Given the description of an element on the screen output the (x, y) to click on. 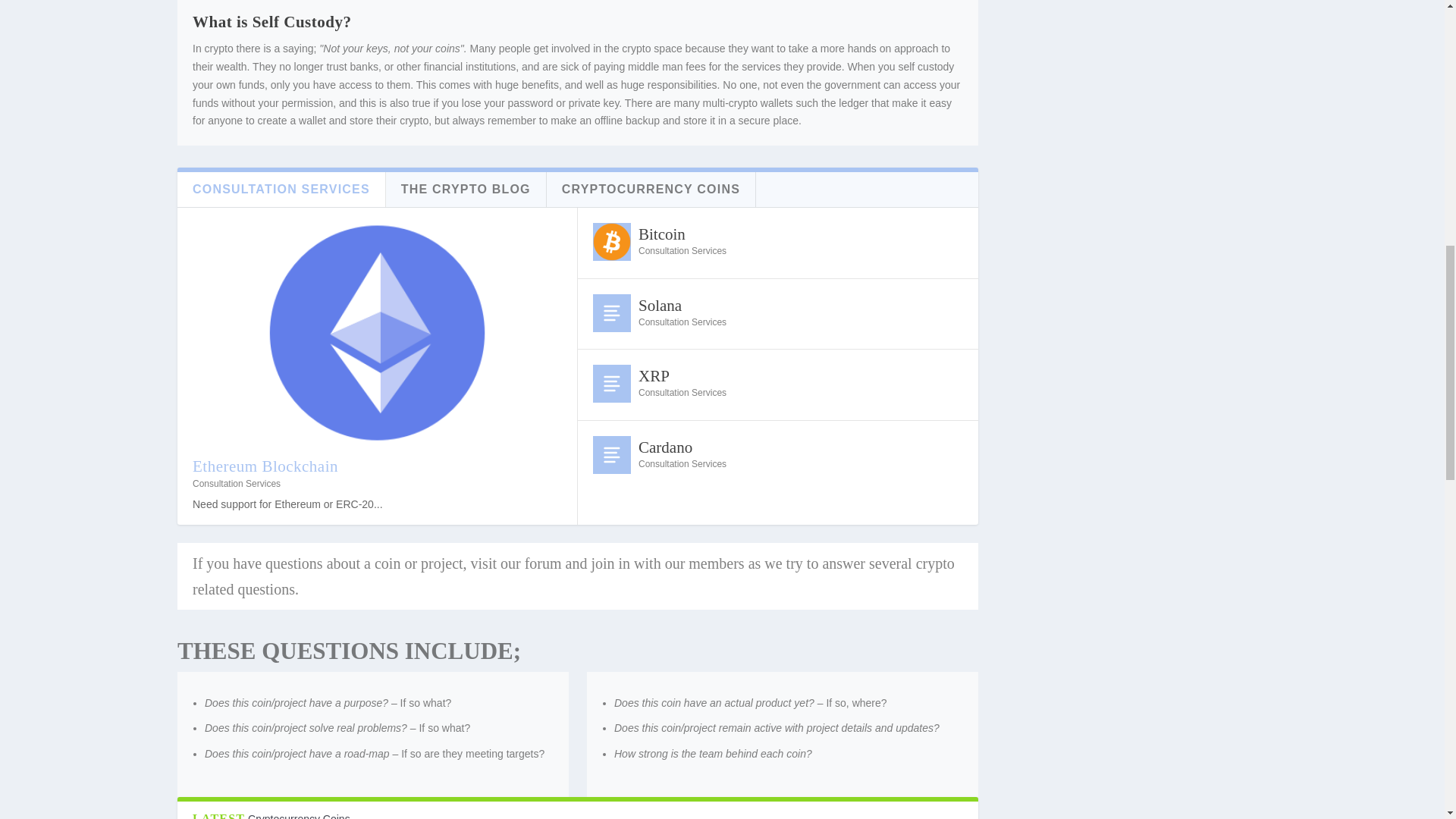
Bitcoin (611, 241)
Solana (611, 313)
Cardano (611, 454)
Ethereum Blockchain (377, 332)
XRP (611, 383)
